Given the description of an element on the screen output the (x, y) to click on. 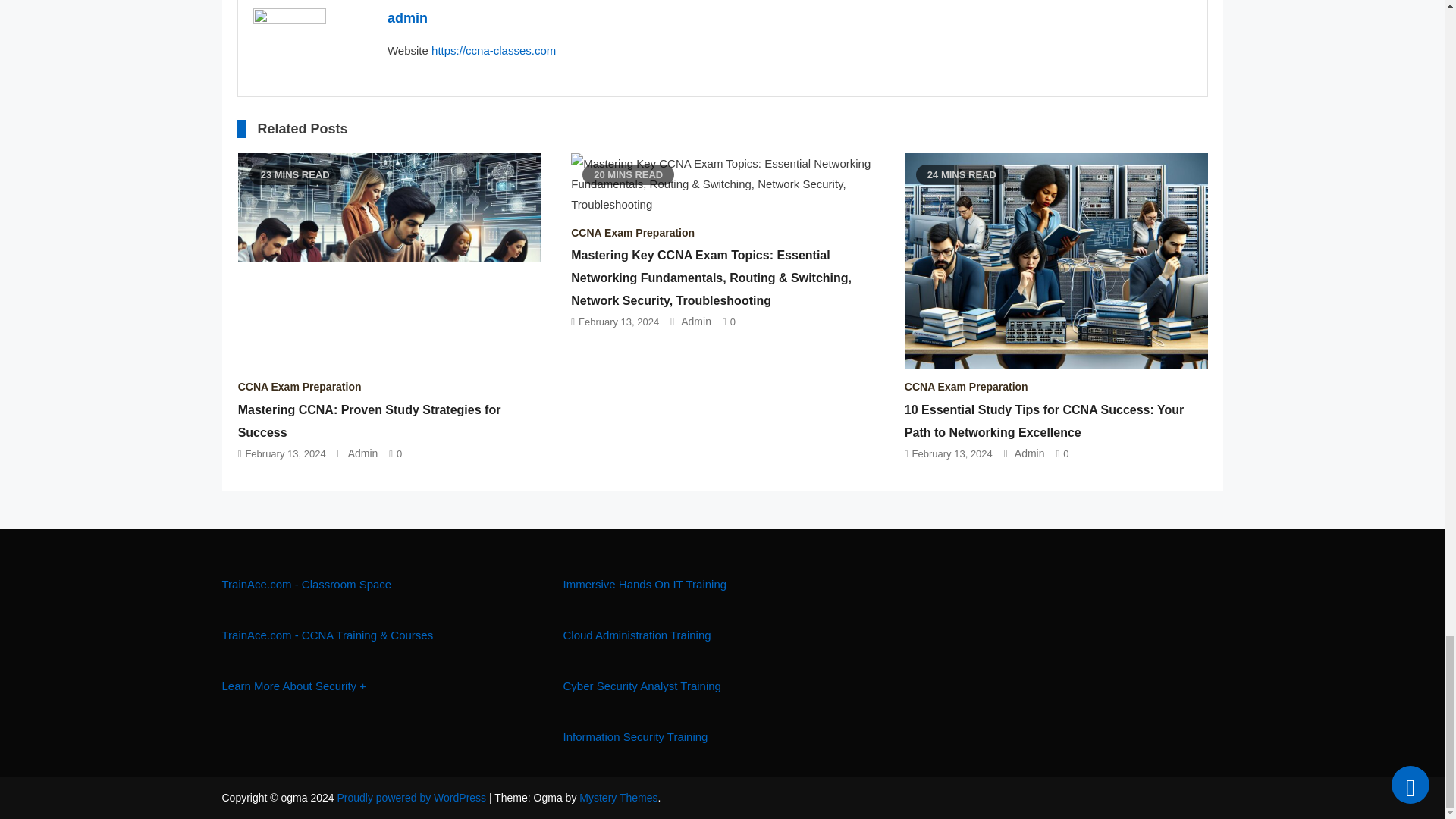
February 13, 2024 (618, 321)
CCNA Exam Preparation (632, 232)
CCNA Exam Preparation (299, 386)
CCNA Exam Preparation (965, 386)
Admin (696, 321)
February 13, 2024 (952, 452)
February 13, 2024 (284, 452)
Mastering CCNA: Proven Study Strategies for Success (369, 420)
Admin (362, 453)
admin (407, 17)
Posts by admin (407, 17)
